Given the description of an element on the screen output the (x, y) to click on. 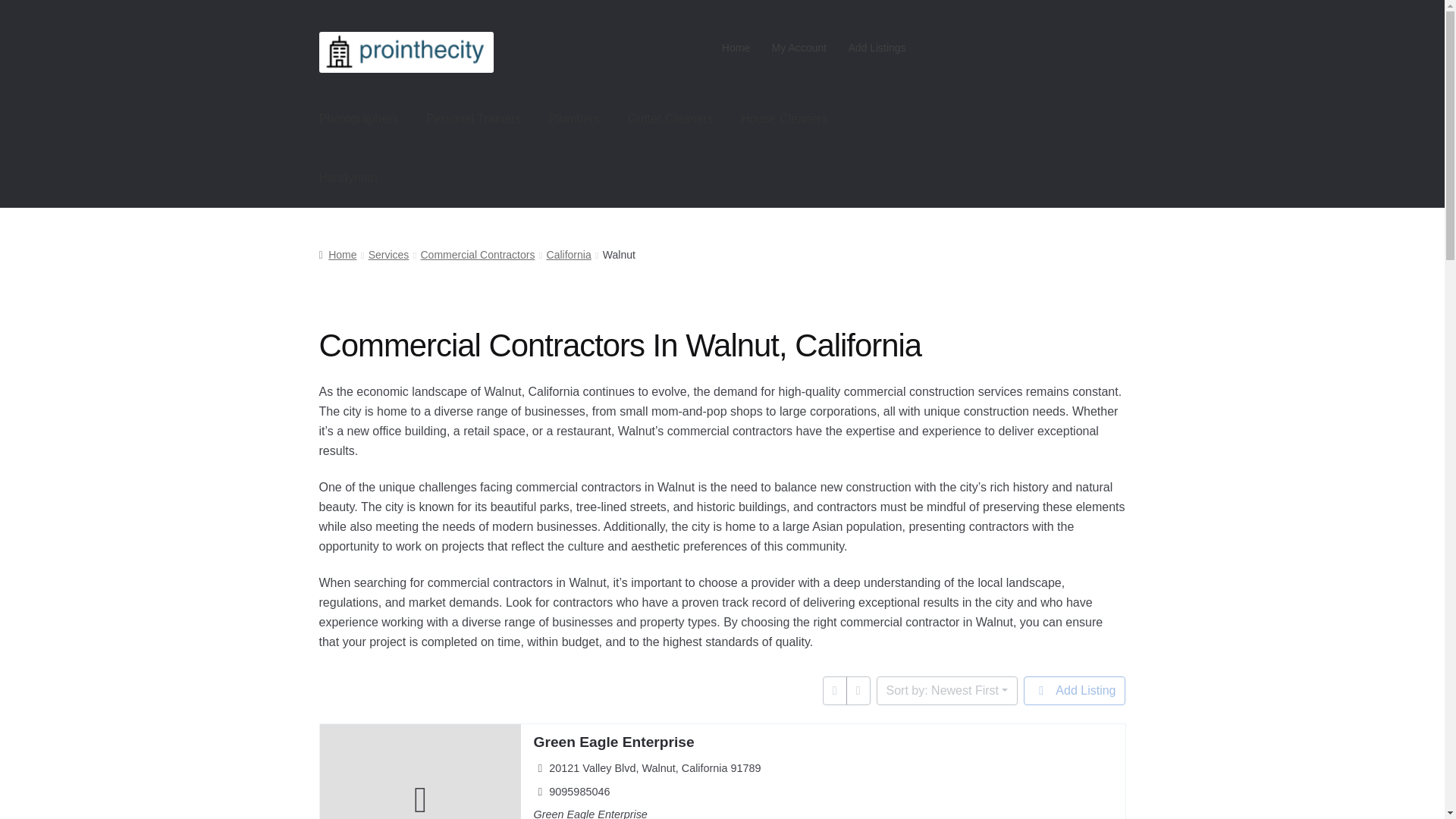
Add Listing (1074, 690)
Commercial Contractors (477, 254)
California (569, 254)
Gutter Cleaners (670, 118)
Home (337, 254)
Plumbers (574, 118)
Green Eagle Enterprise (613, 741)
Personal Trainers (472, 118)
My Account (798, 47)
Photographers (358, 118)
